Given the description of an element on the screen output the (x, y) to click on. 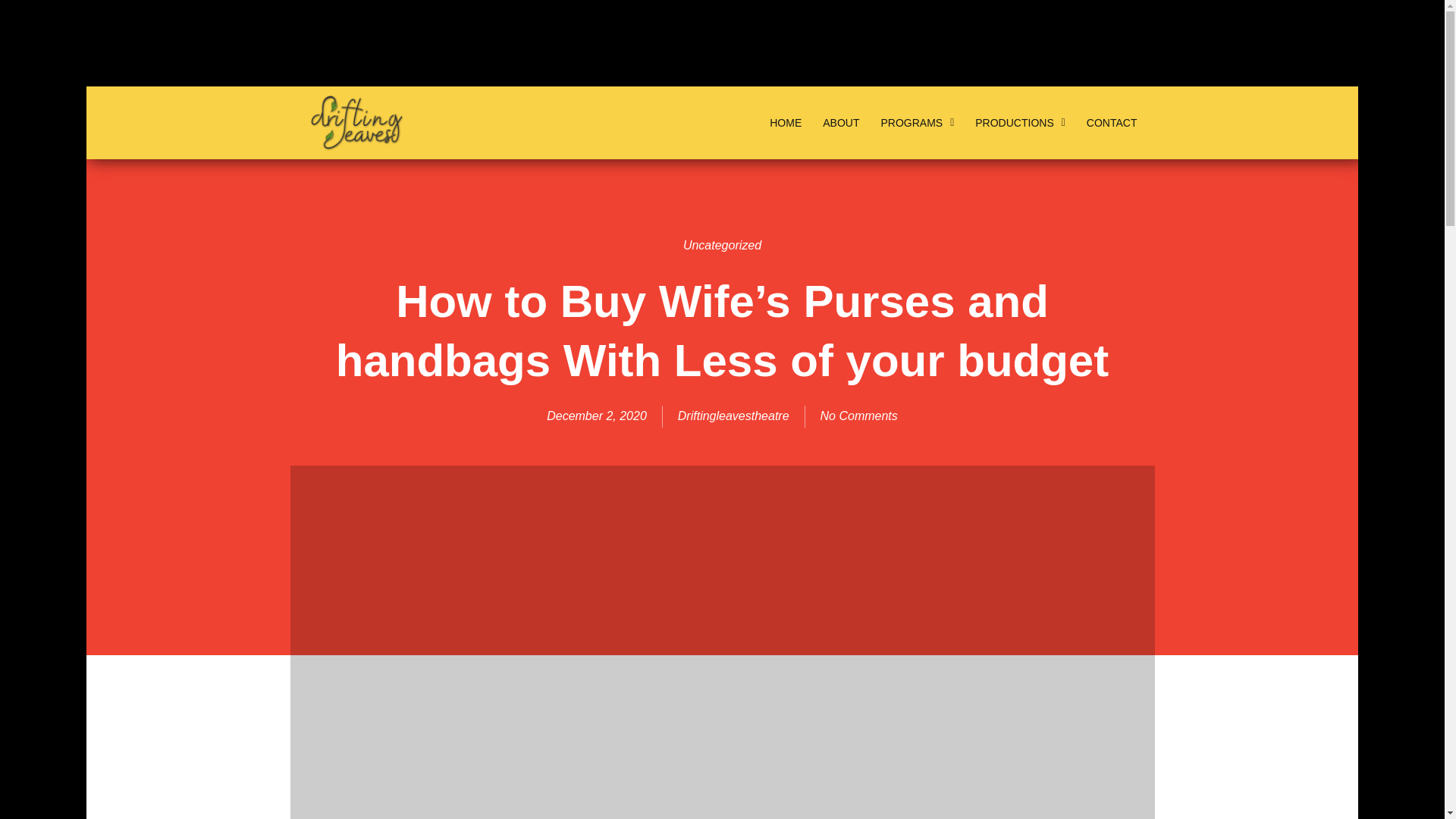
Uncategorized (721, 245)
Driftingleavestheatre (733, 416)
HOME (785, 122)
No Comments (859, 416)
PRODUCTIONS (1020, 122)
December 2, 2020 (596, 416)
CONTACT (1112, 122)
PROGRAMS (916, 122)
ABOUT (840, 122)
